Given the description of an element on the screen output the (x, y) to click on. 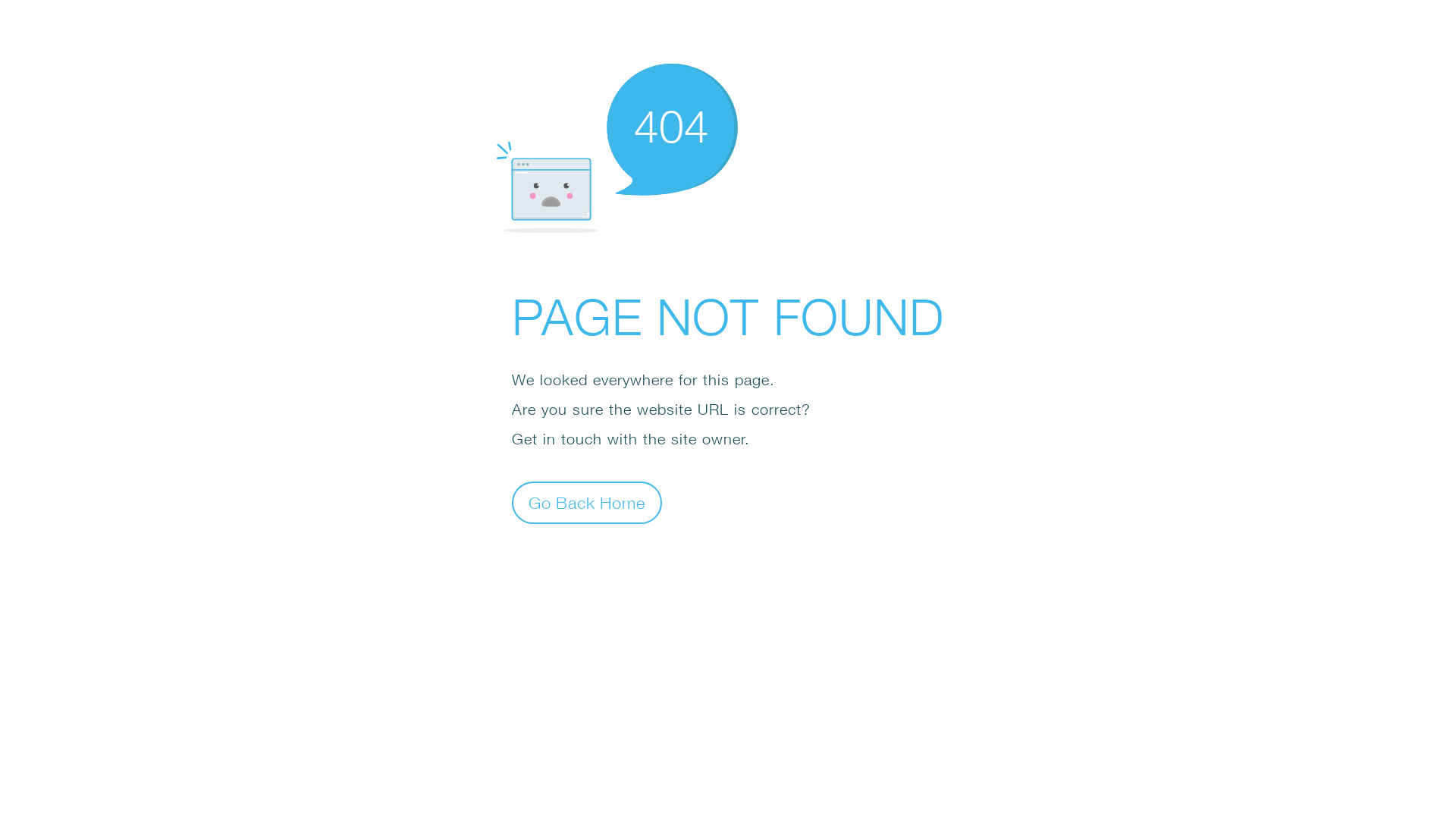
Go Back Home Element type: text (586, 502)
